Given the description of an element on the screen output the (x, y) to click on. 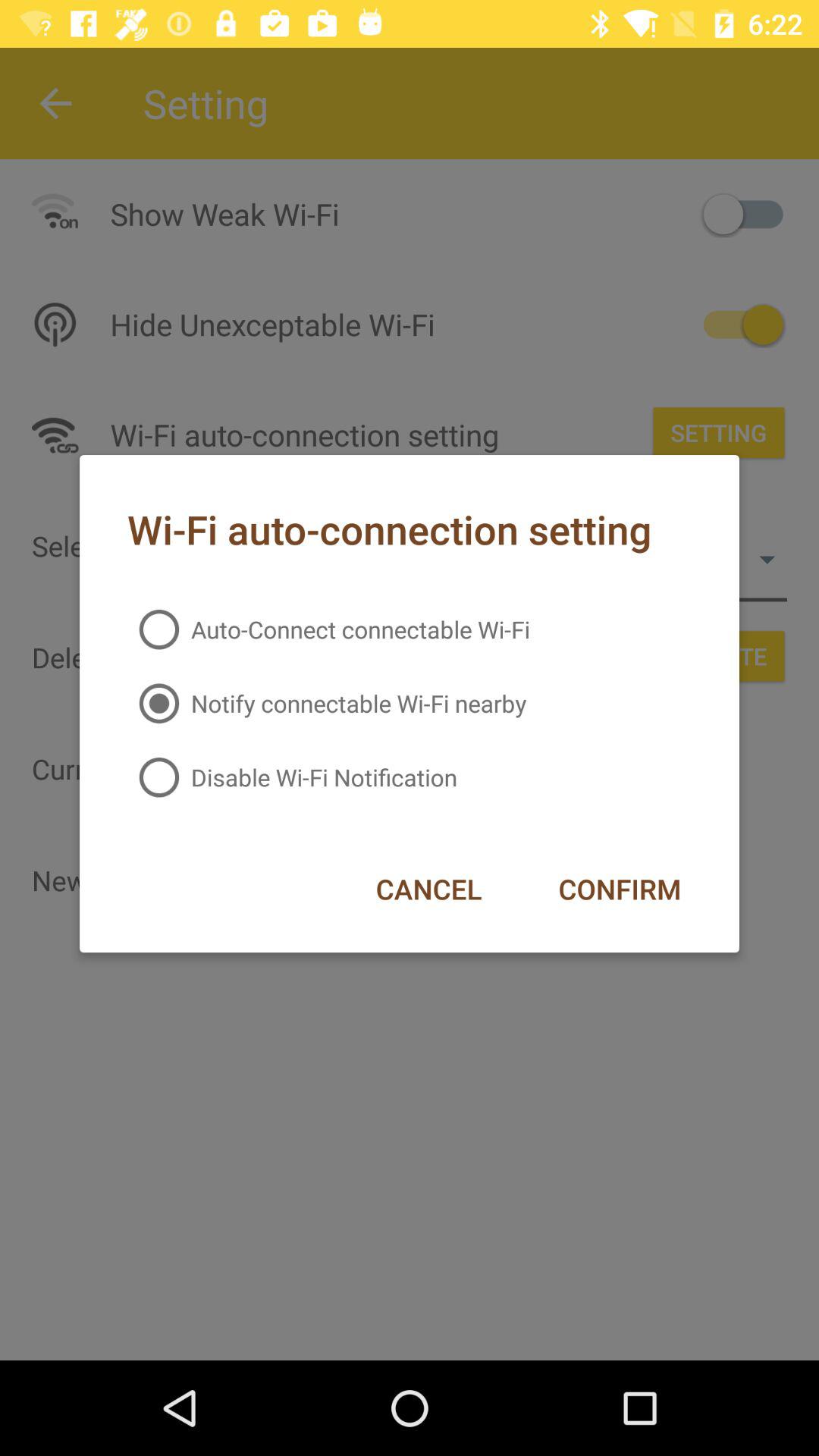
launch the cancel icon (428, 888)
